Given the description of an element on the screen output the (x, y) to click on. 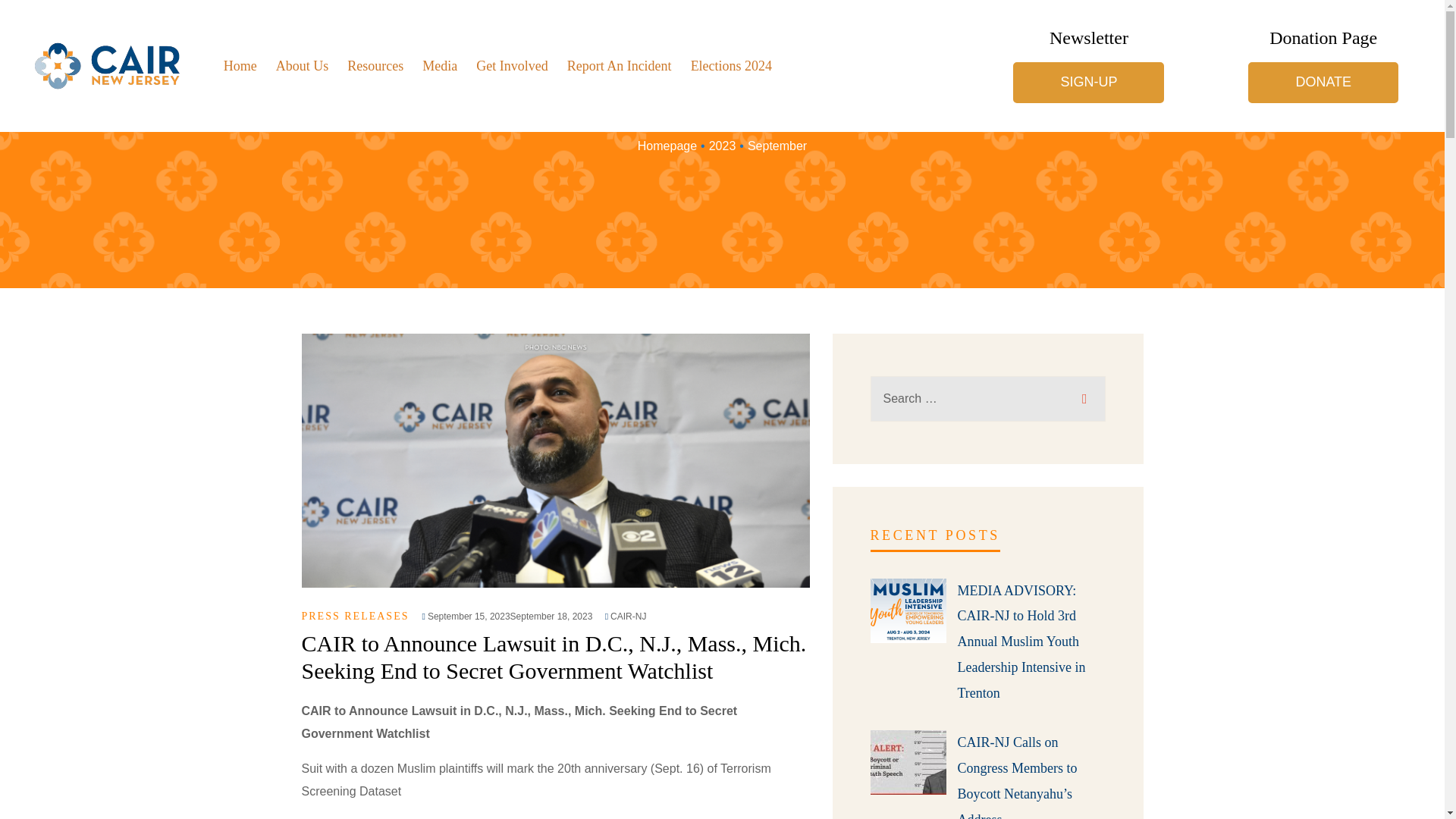
Report An Incident (619, 65)
Elections 2024 (730, 65)
Go to CAIR NJ. (667, 145)
Resources (375, 65)
Go to the 2023 archives. (722, 145)
Get Involved (511, 65)
About Us (302, 65)
